Given the description of an element on the screen output the (x, y) to click on. 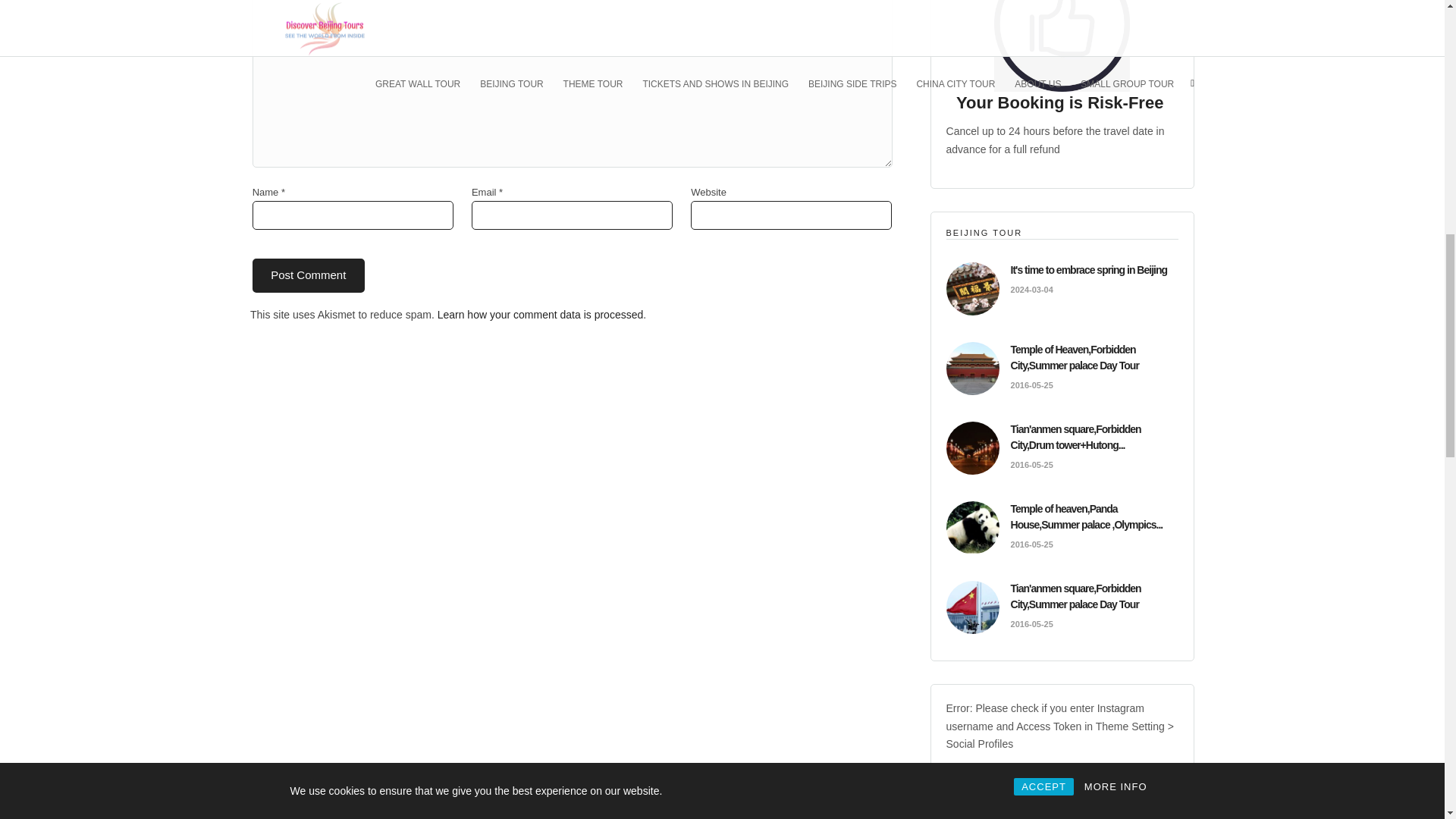
Post Comment (308, 275)
Temple of Heaven,Forbidden City,Summer palace Day Tour (1074, 357)
Temple of heaven,Panda House,Summer palace ,Olympics... (1086, 516)
Learn how your comment data is processed (540, 314)
It's time to embrace spring in Beijing (1088, 269)
Post Comment (308, 275)
